Given the description of an element on the screen output the (x, y) to click on. 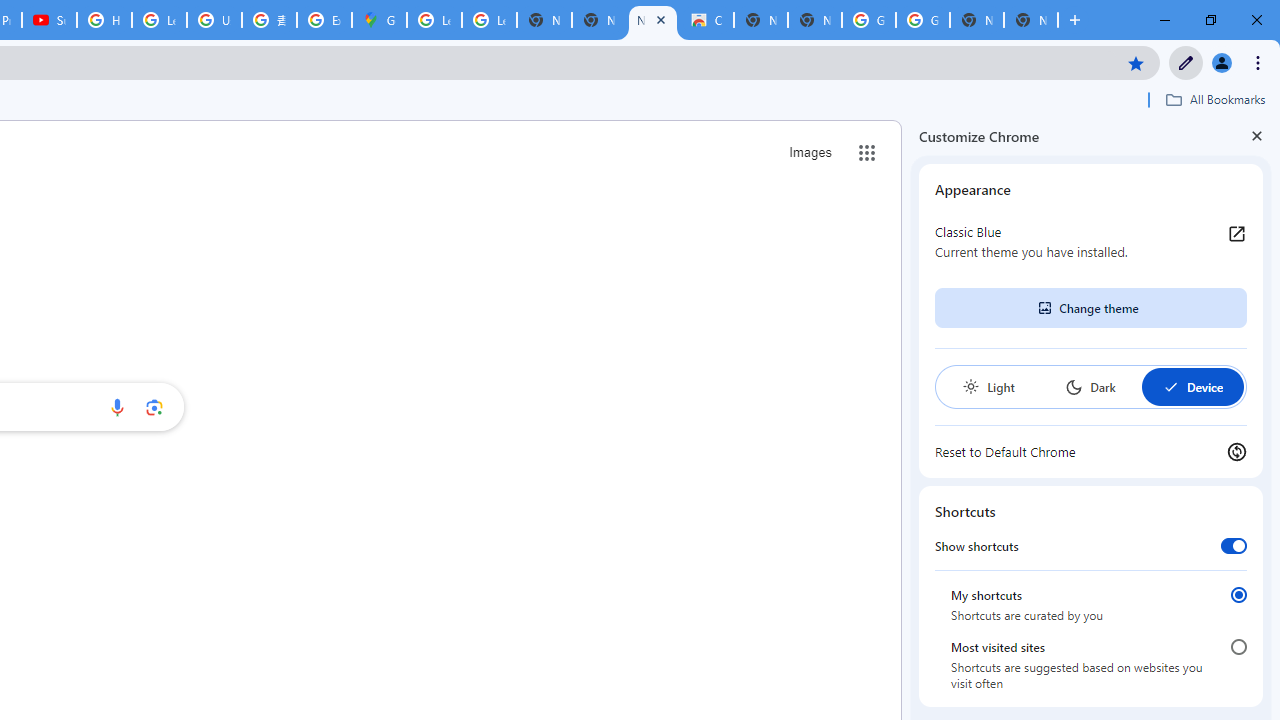
Show shortcuts (1233, 545)
Most visited sites (1238, 647)
Google Images (922, 20)
Google Maps (379, 20)
Reset to Default Chrome (1091, 452)
